Given the description of an element on the screen output the (x, y) to click on. 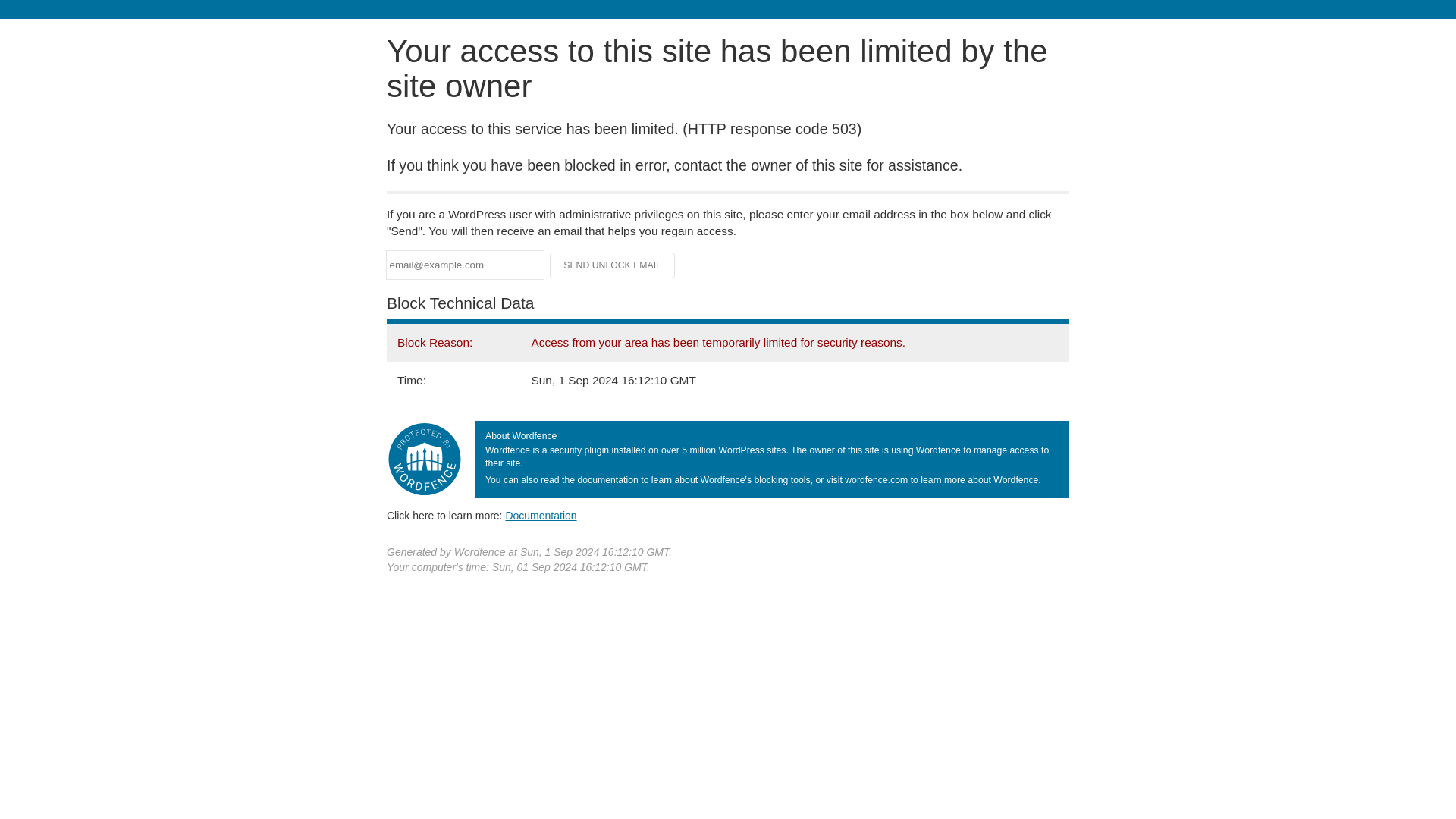
Send Unlock Email (612, 265)
Send Unlock Email (612, 265)
Documentation (540, 515)
